Given the description of an element on the screen output the (x, y) to click on. 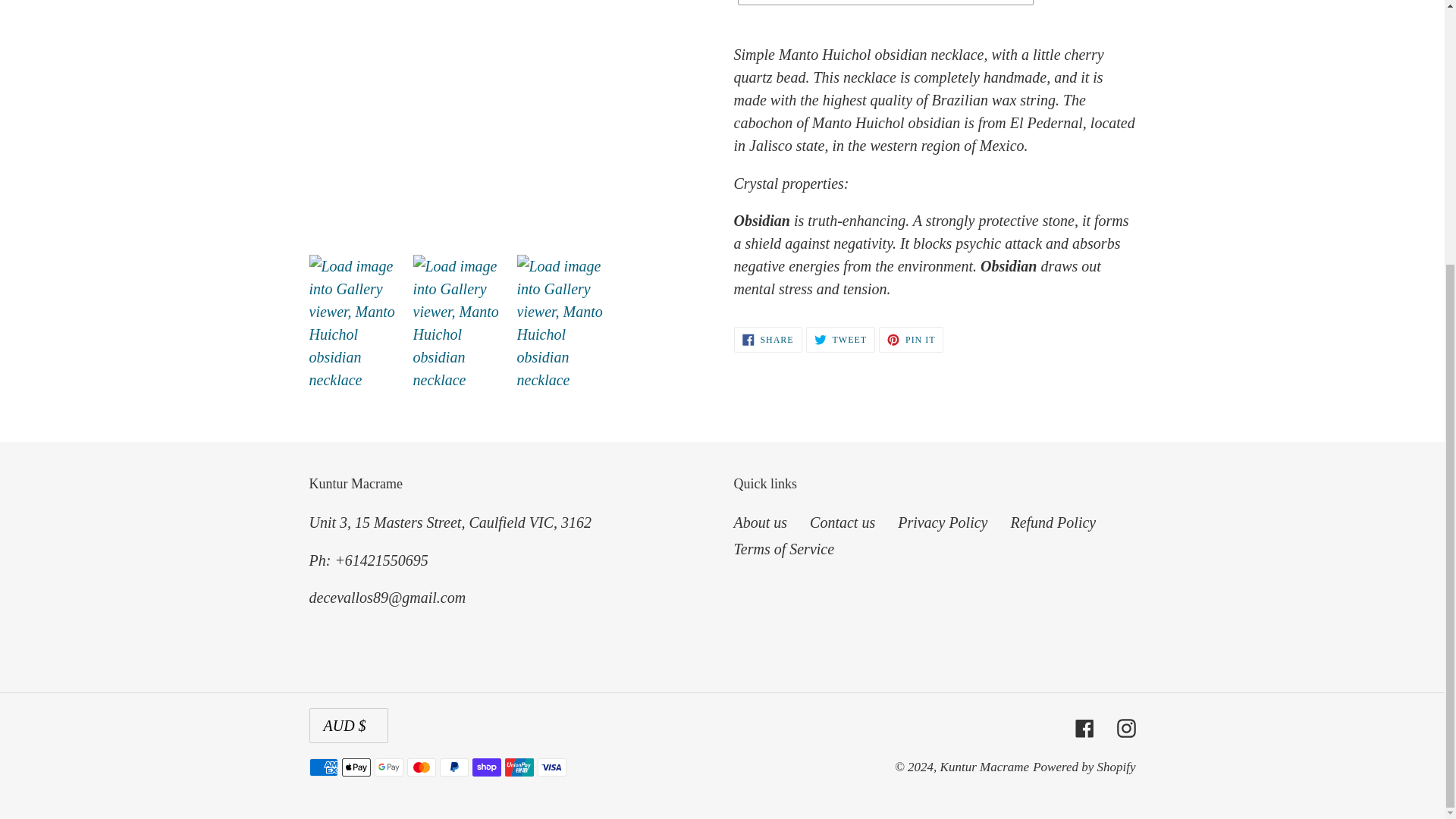
Facebook (1084, 725)
Contact us (842, 522)
Kuntur Macrame (911, 339)
Powered by Shopify (984, 766)
About us (1083, 766)
Terms of Service (767, 339)
Privacy Policy (760, 522)
Refund Policy (783, 548)
Instagram (942, 522)
SOLD OUT (1053, 522)
